Given the description of an element on the screen output the (x, y) to click on. 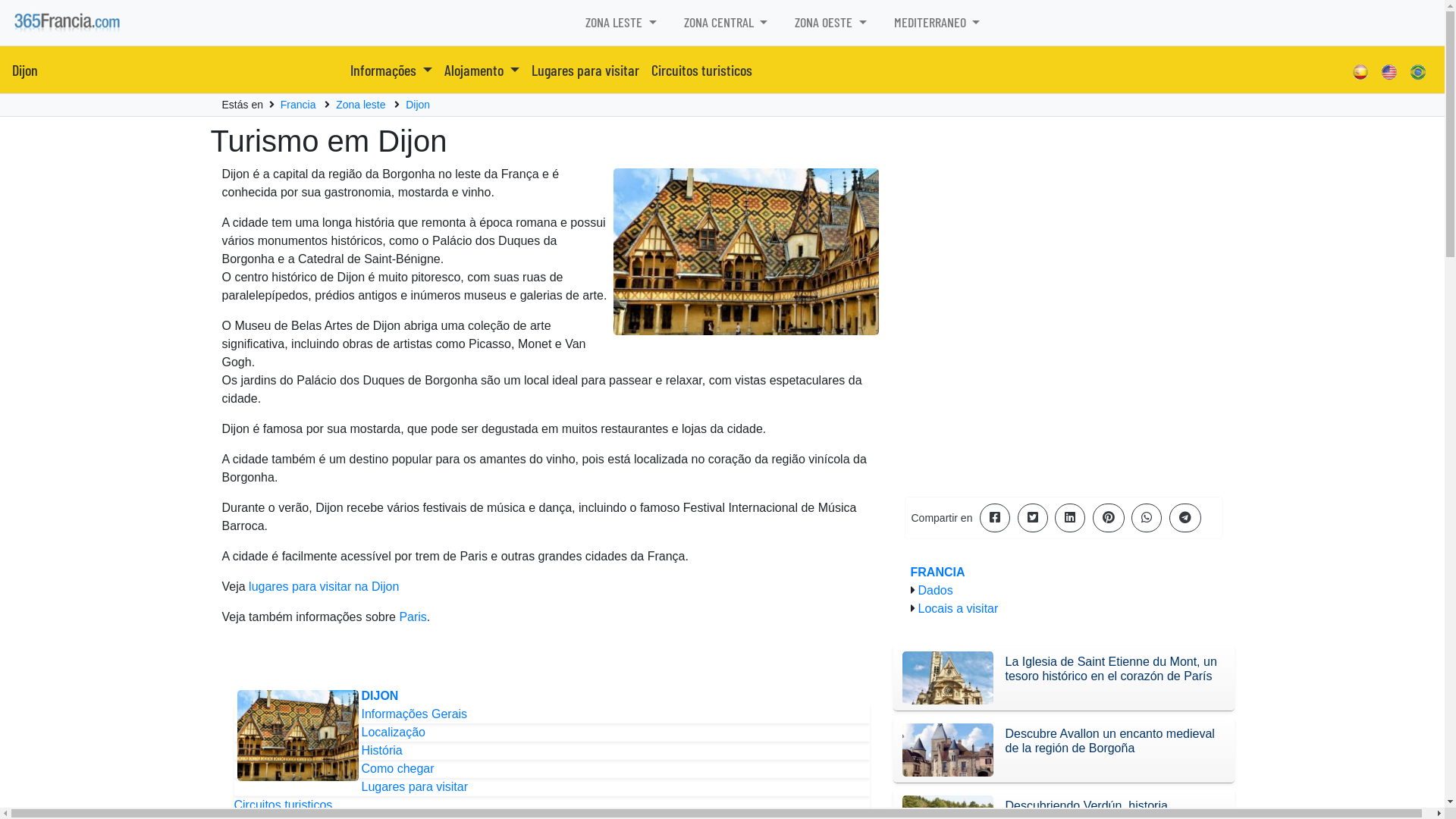
Zona leste Element type: text (360, 104)
MEDITERRANEO Element type: text (937, 22)
Alojamento Element type: text (481, 69)
Circuitos turisticos Element type: text (701, 69)
lugares para visitar na Dijon Element type: text (323, 586)
Dijon Element type: text (24, 69)
Dados Element type: text (934, 589)
ZONA LESTE Element type: text (620, 22)
ZONA CENTRAL Element type: text (725, 22)
Paris Element type: text (412, 616)
Como chegar Element type: text (396, 768)
Lugares para visitar Element type: text (585, 69)
Circuitos turisticos Element type: text (282, 804)
Locais a visitar Element type: text (957, 608)
Lugares para visitar Element type: text (413, 786)
ZONA OESTE Element type: text (830, 22)
Dijon Element type: text (417, 104)
Francia Element type: text (298, 104)
DIJON Element type: text (379, 695)
Advertisement Element type: hover (1062, 378)
FRANCIA Element type: text (937, 571)
